Given the description of an element on the screen output the (x, y) to click on. 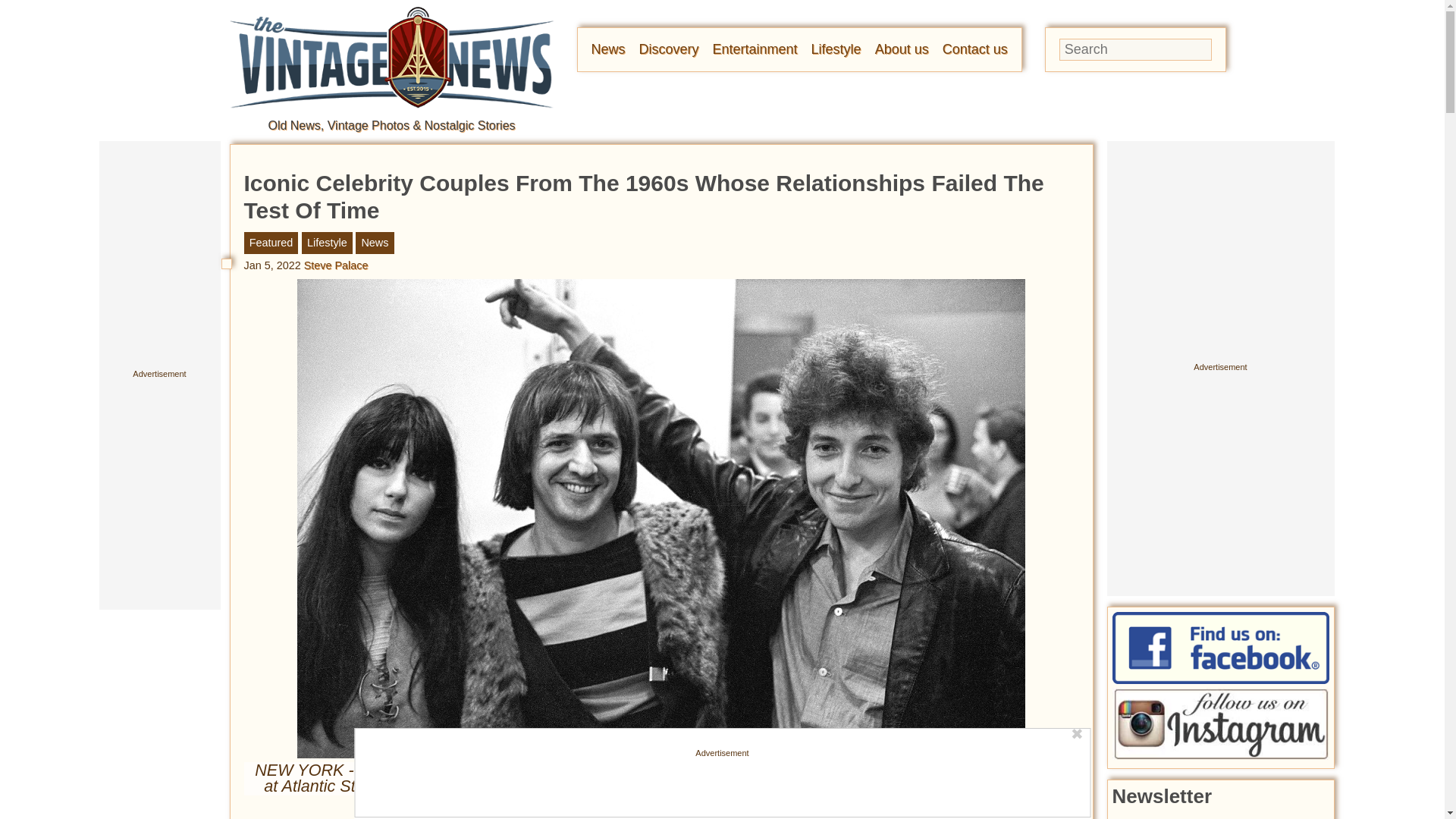
News (608, 48)
About us (901, 48)
Contact us (974, 48)
Lifestyle (835, 48)
Discovery (668, 48)
Entertainment (755, 48)
